Given the description of an element on the screen output the (x, y) to click on. 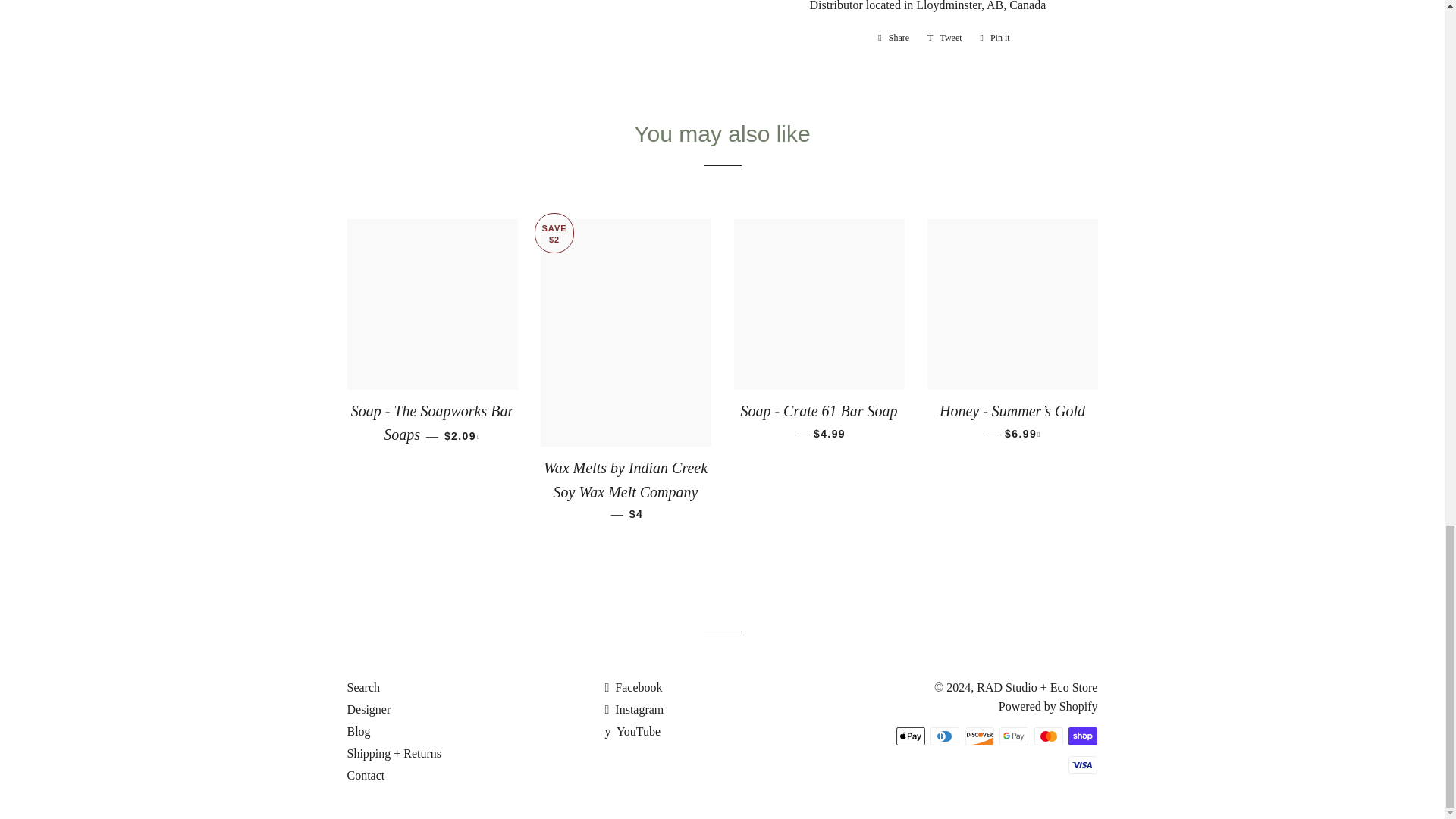
Shop Pay (1082, 736)
Diners Club (944, 736)
Pin on Pinterest (994, 37)
Discover (979, 736)
Tweet on Twitter (944, 37)
Share on Facebook (893, 37)
Visa (1082, 764)
Apple Pay (910, 736)
Mastercard (1047, 736)
Google Pay (1012, 736)
